Given the description of an element on the screen output the (x, y) to click on. 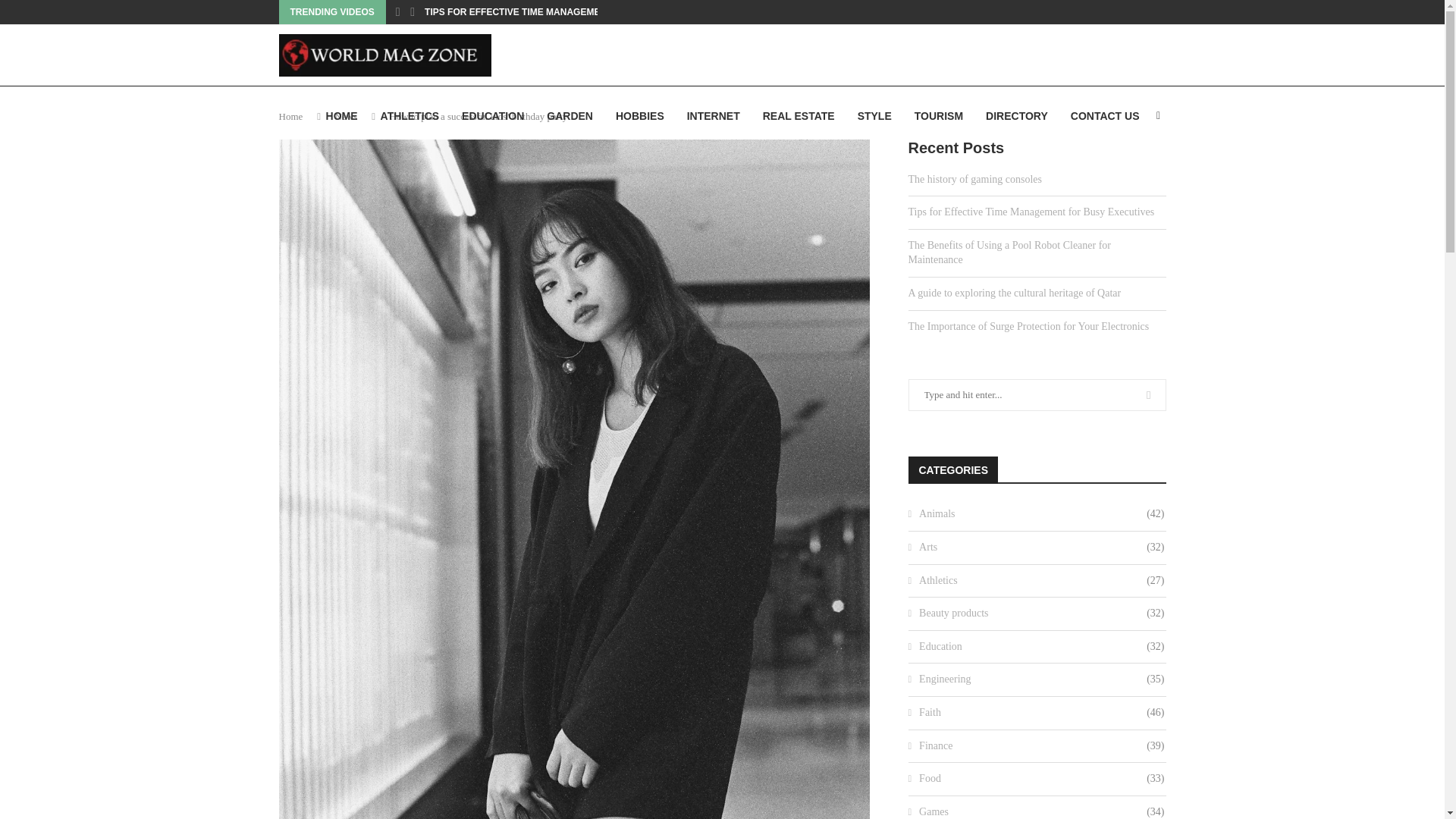
News (346, 116)
TIPS FOR EFFECTIVE TIME MANAGEMENT FOR BUSY EXECUTIVES (573, 12)
CONTACT US (1105, 115)
DIRECTORY (1016, 115)
REAL ESTATE (798, 115)
Home (290, 116)
ATHLETICS (409, 115)
EDUCATION (492, 115)
